Given the description of an element on the screen output the (x, y) to click on. 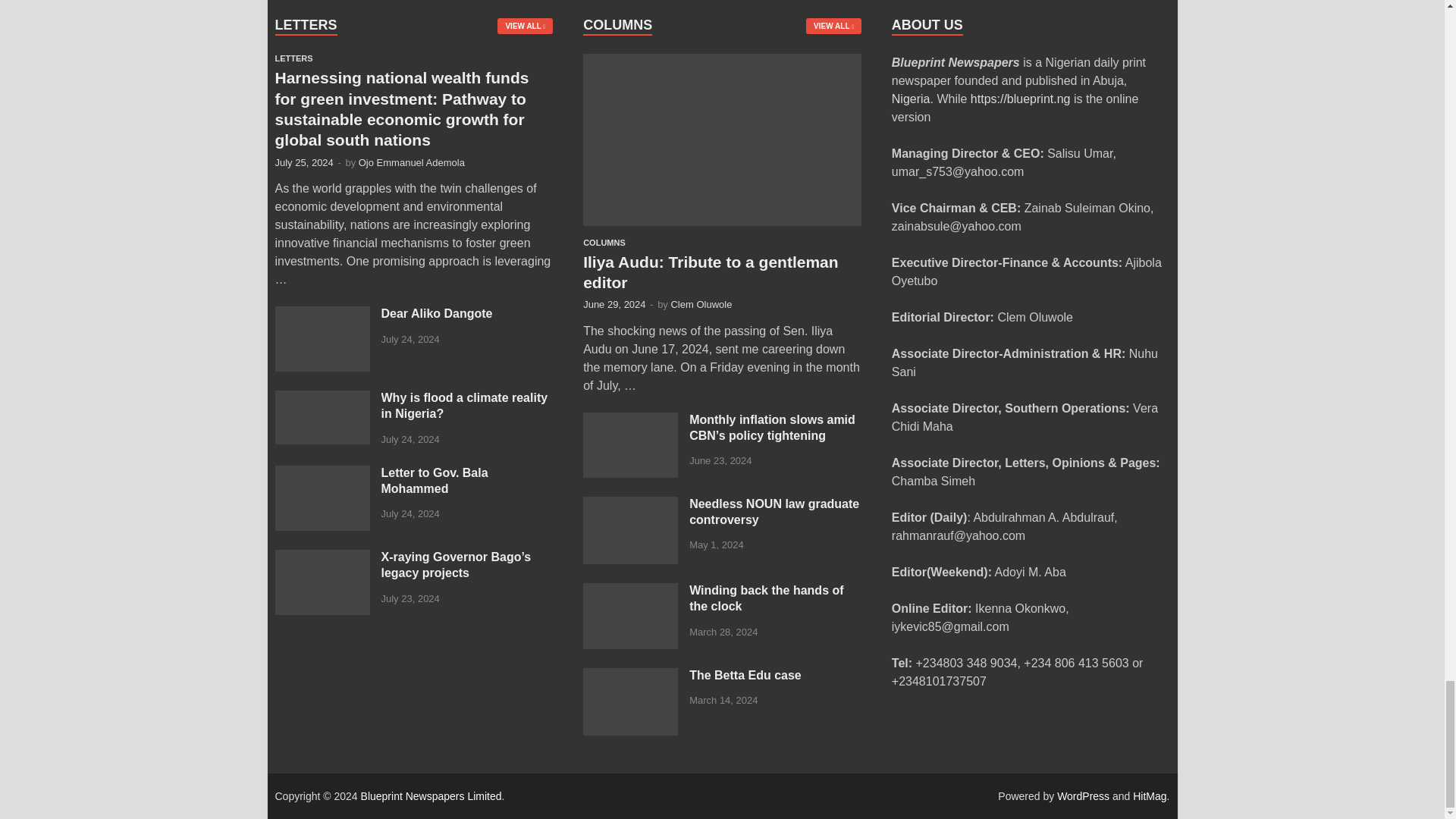
Iliya Audu: Tribute to a gentleman editor (722, 62)
Dear Aliko Dangote (322, 314)
Needless NOUN law graduate controversy (630, 504)
Why is flood a climate reality in Nigeria? (322, 399)
